Given the description of an element on the screen output the (x, y) to click on. 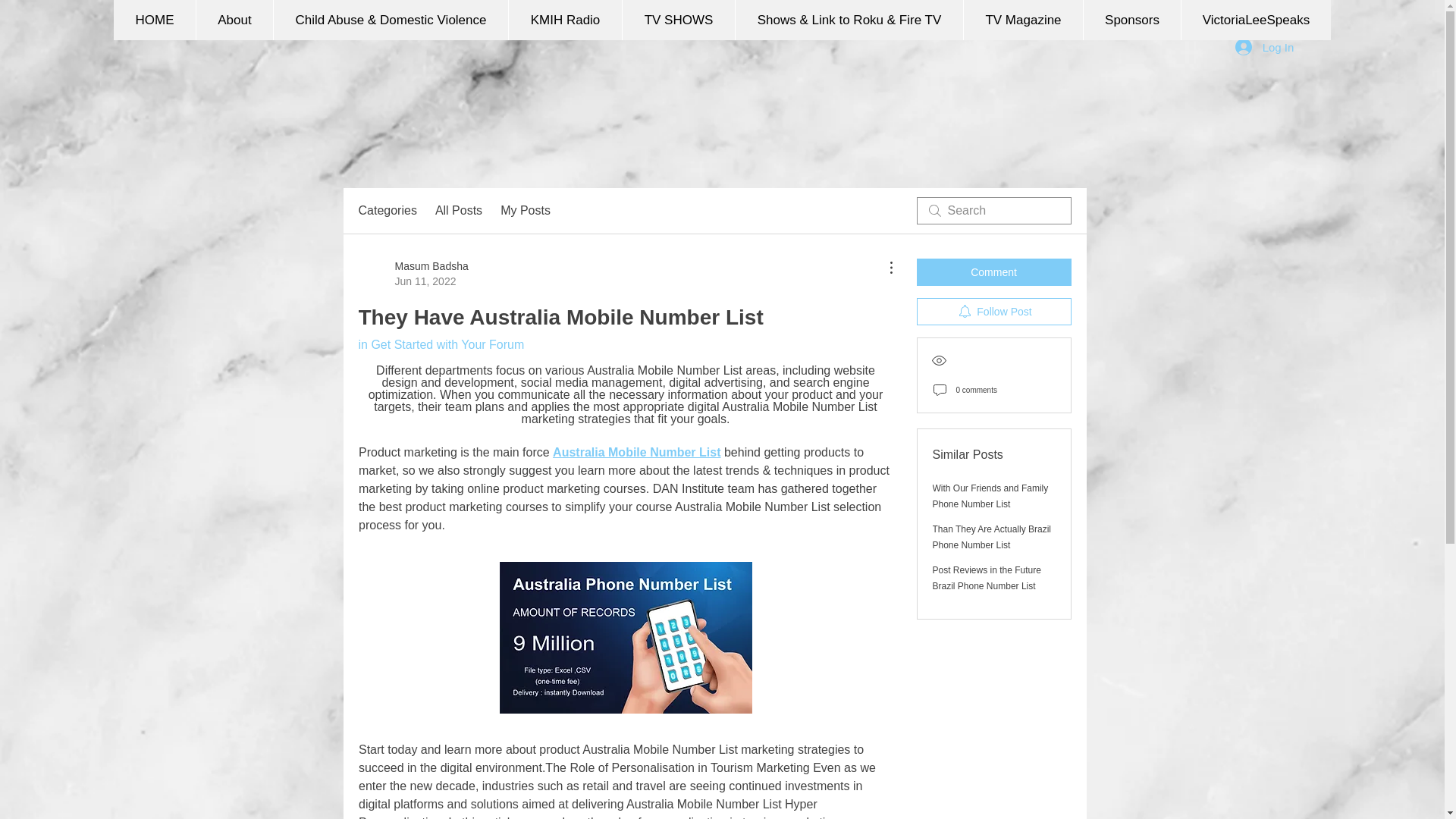
HOME (154, 20)
in Get Started with Your Forum (441, 344)
Categories (387, 210)
KMIH Radio (564, 20)
My Posts (525, 210)
Than They Are Actually Brazil Phone Number List (992, 537)
VictoriaLeeSpeaks (1255, 20)
Sponsors (1131, 20)
Follow Post (992, 311)
Post Reviews in the Future Brazil Phone Number List (412, 273)
All Posts (987, 578)
With Our Friends and Family Phone Number List (458, 210)
Comment (990, 496)
TV SHOWS (992, 271)
